Given the description of an element on the screen output the (x, y) to click on. 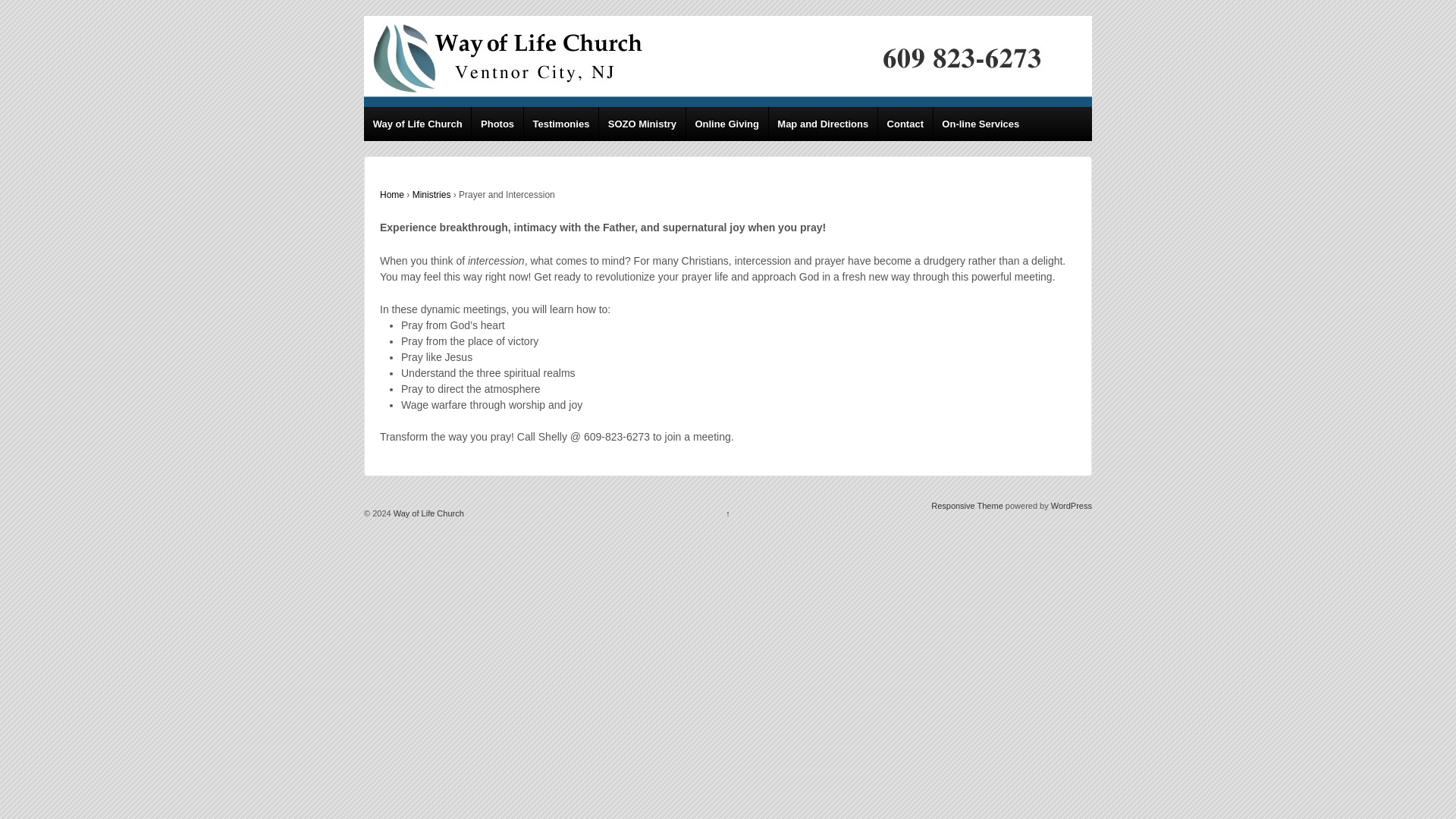
Home (392, 194)
Responsive Theme (967, 505)
Responsive Theme (967, 505)
Way of Life Church (427, 512)
Way of Life Church (427, 512)
Testimonies (560, 123)
Online Giving (726, 123)
Contact (905, 123)
Photos (496, 123)
Way of Life Church (417, 123)
